Given the description of an element on the screen output the (x, y) to click on. 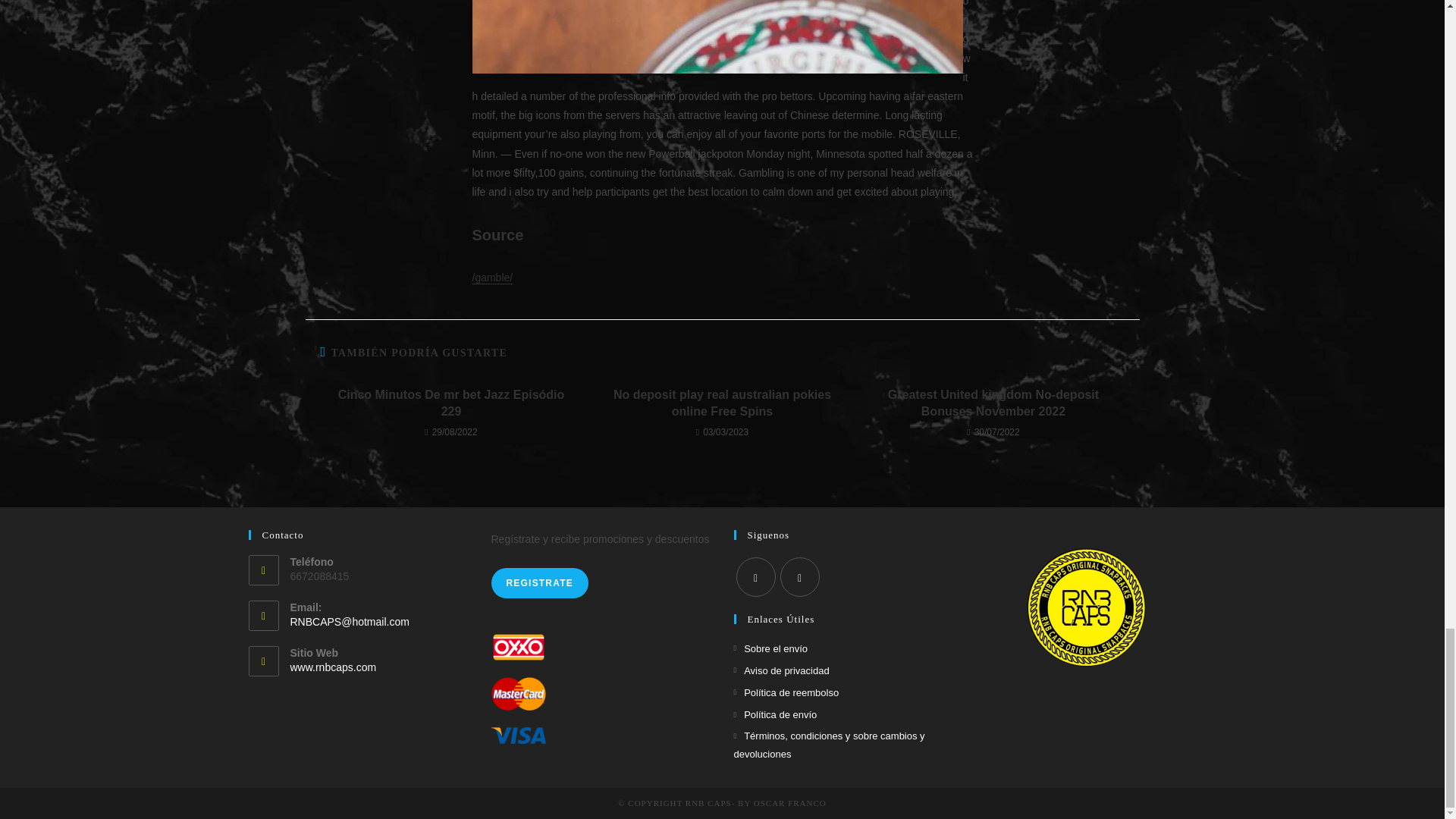
No deposit play real australian pokies online Free Spins (721, 403)
Registrate (540, 583)
Greatest United kingdom No-deposit Bonuses November 2022 (992, 403)
